Given the description of an element on the screen output the (x, y) to click on. 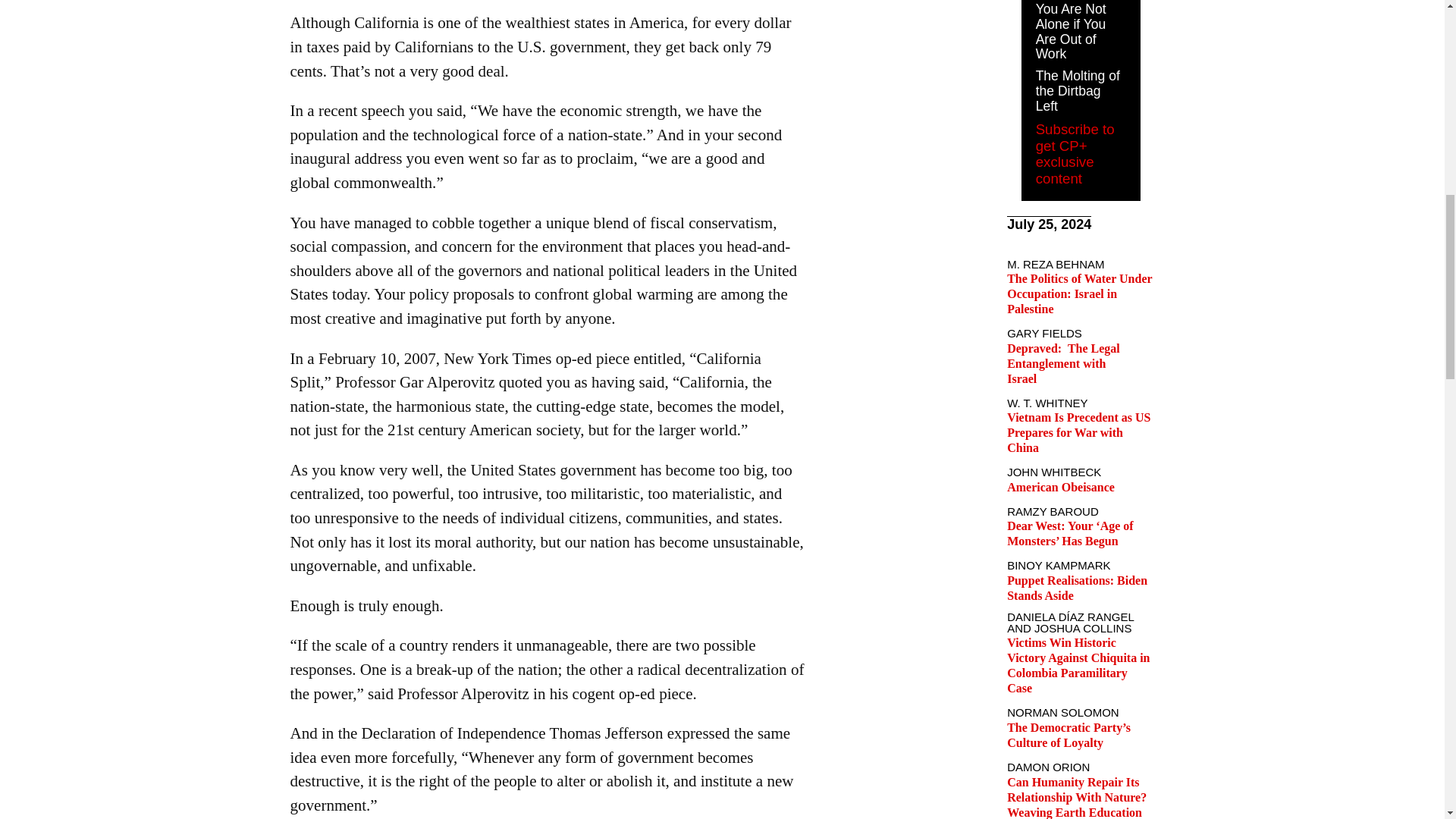
The Politics of Water Under Occupation: Israel in Palestine (1079, 293)
You Are Not Alone if You Are Out of Work (1070, 31)
Vietnam Is Precedent as US Prepares for War with China (1078, 432)
The Molting of the Dirtbag Left (1077, 90)
